Given the description of an element on the screen output the (x, y) to click on. 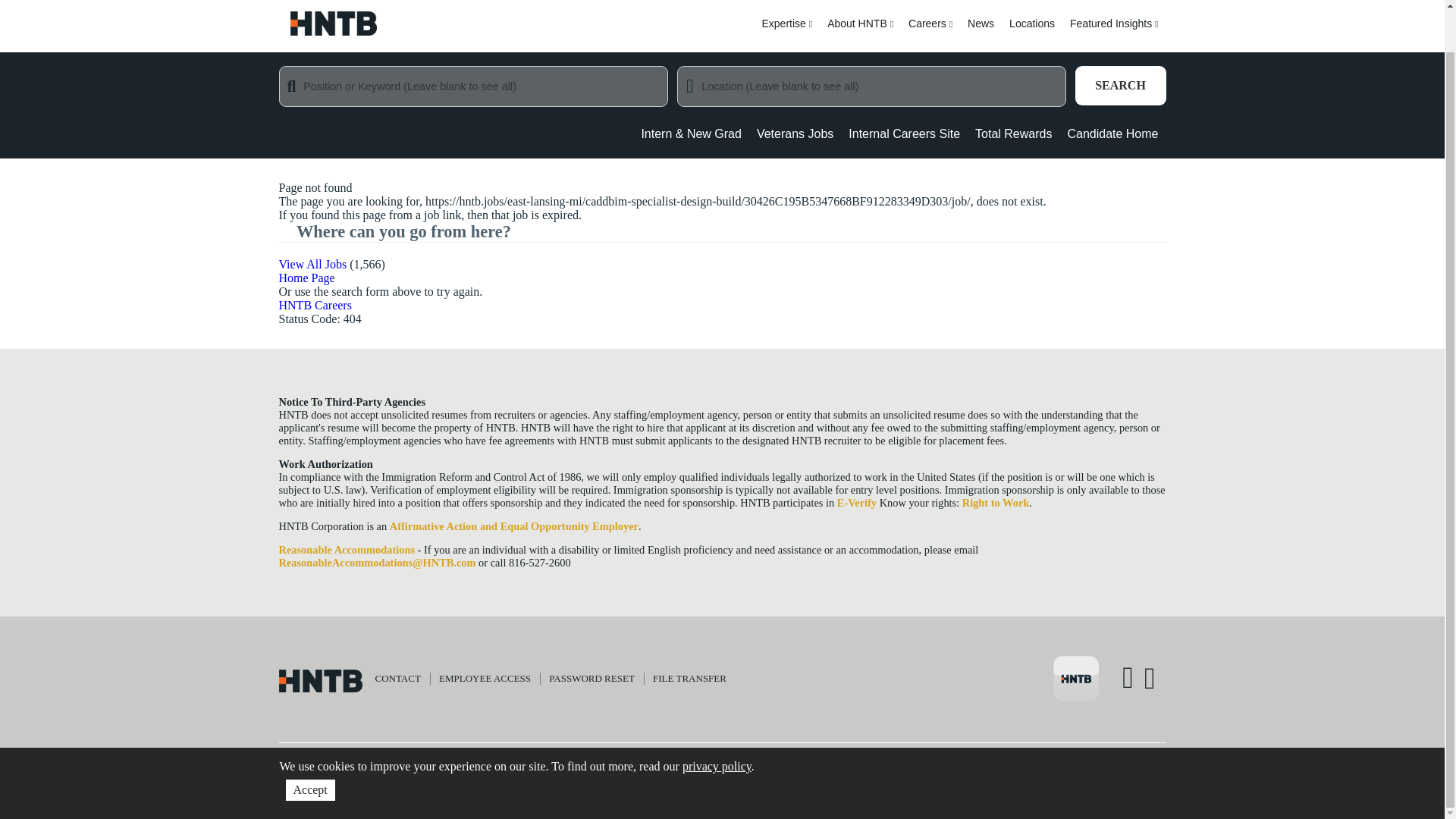
Featured Insights (1114, 32)
Locations (1031, 32)
News (980, 32)
Expertise (786, 32)
Careers (930, 32)
About HNTB (860, 32)
Accept (309, 744)
privacy policy (716, 721)
